Given the description of an element on the screen output the (x, y) to click on. 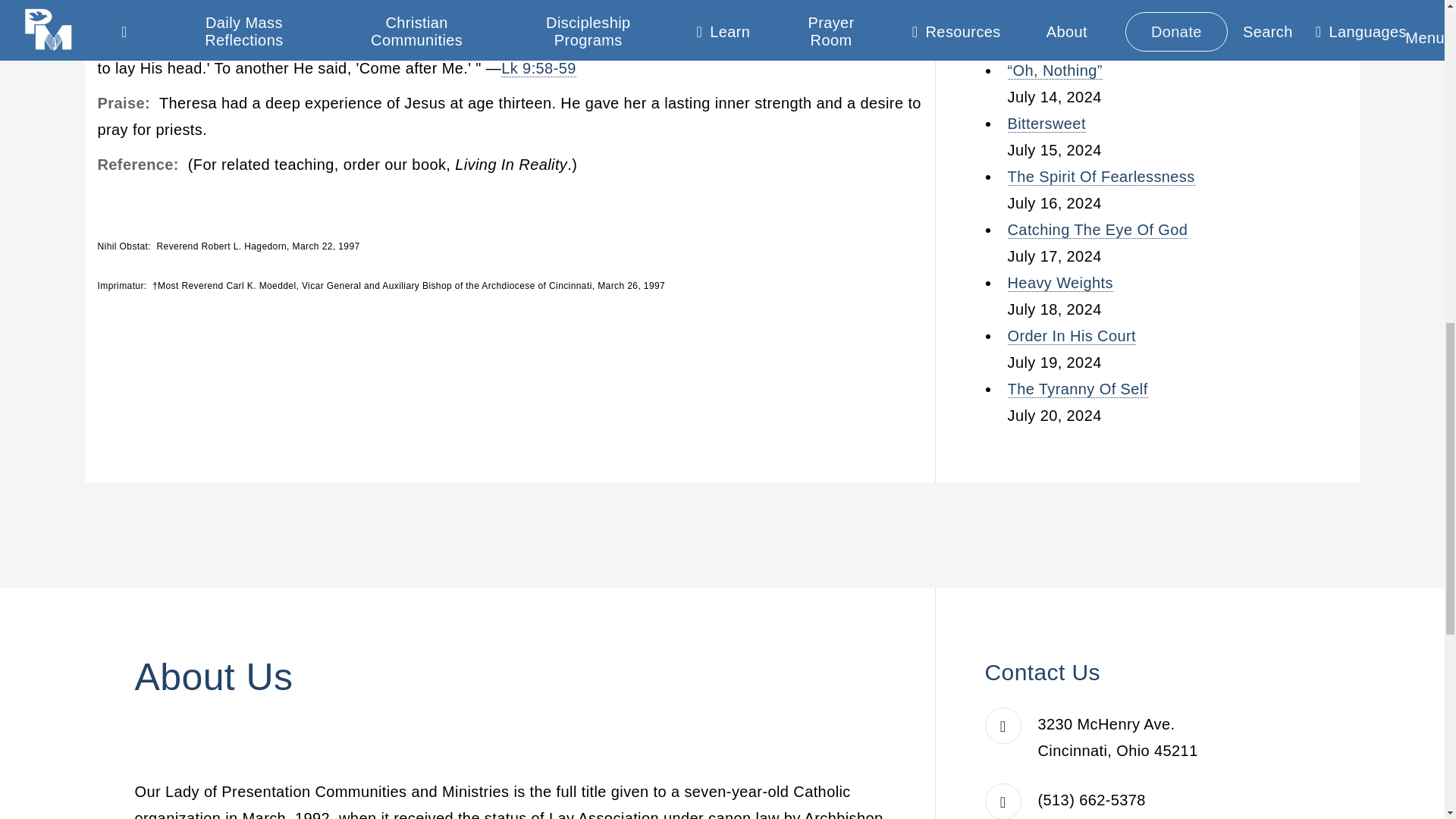
Lk 9:58-59 (538, 67)
Telephone (1091, 799)
Is 58:12 (504, 8)
